Given the description of an element on the screen output the (x, y) to click on. 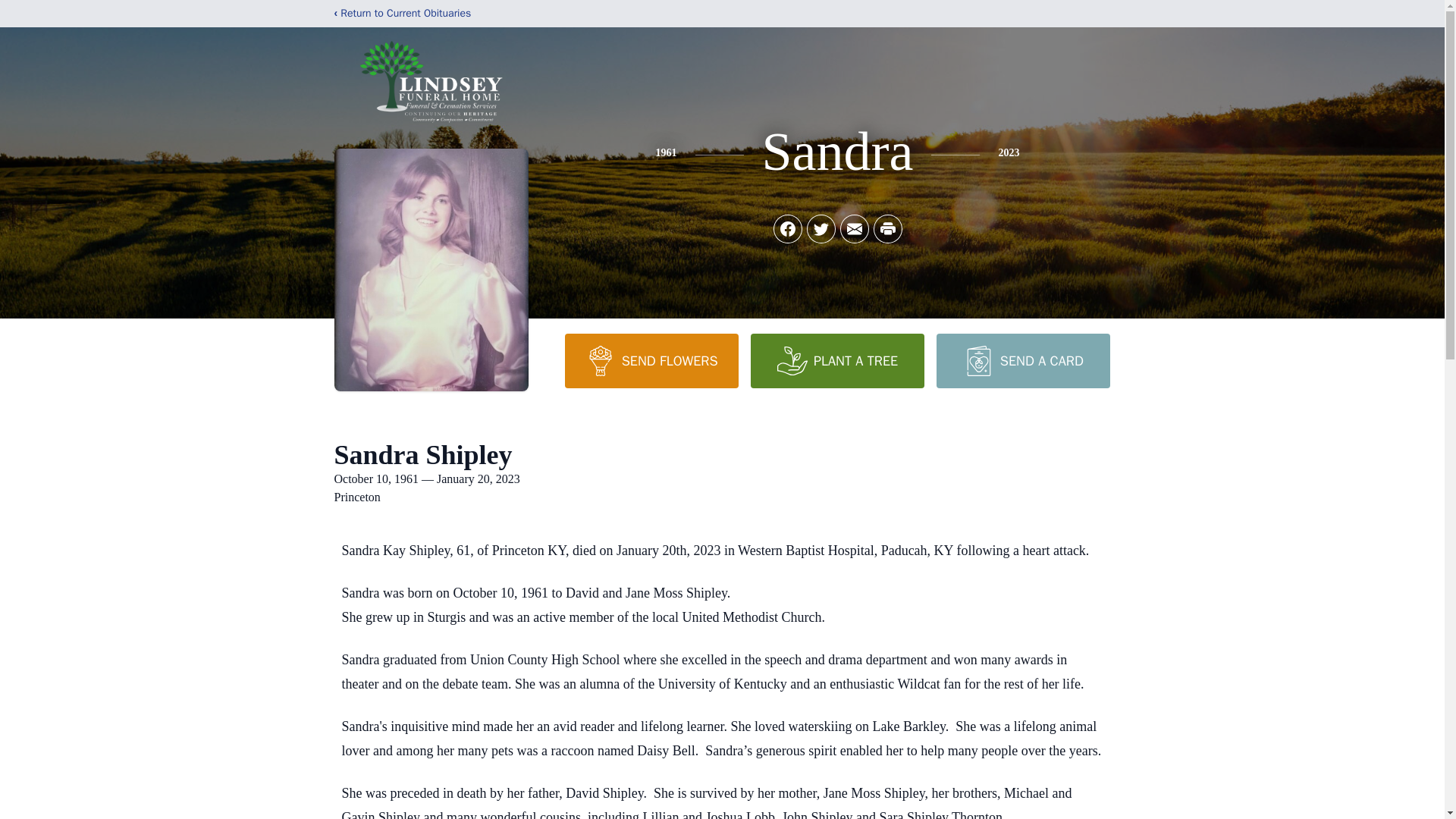
SEND A CARD (1022, 360)
SEND FLOWERS (651, 360)
PLANT A TREE (837, 360)
